Given the description of an element on the screen output the (x, y) to click on. 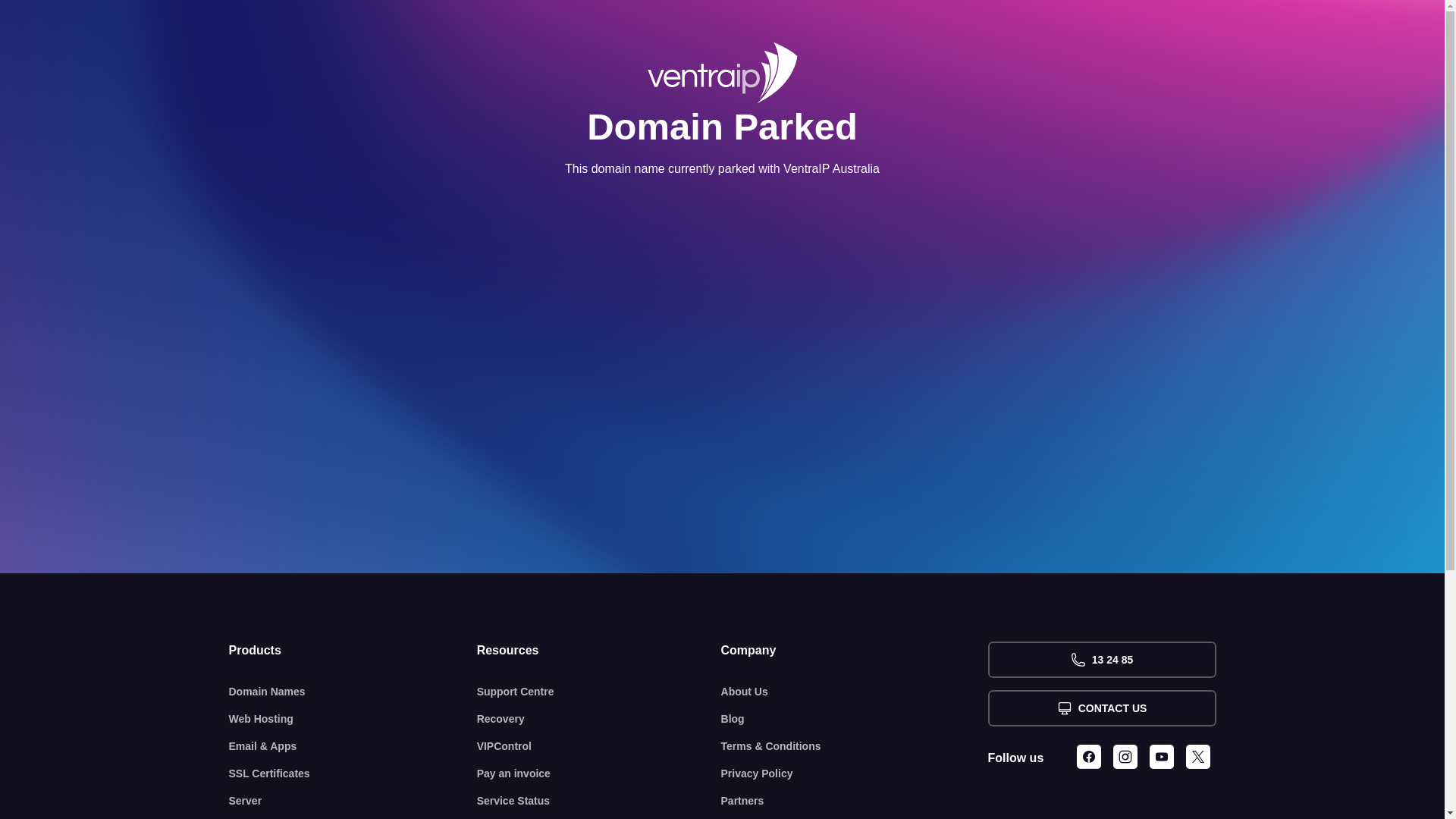
SSL Certificates Element type: text (352, 773)
Server Element type: text (352, 800)
Blog Element type: text (854, 718)
Pay an invoice Element type: text (598, 773)
13 24 85 Element type: text (1101, 659)
Recovery Element type: text (598, 718)
Terms & Conditions Element type: text (854, 745)
CONTACT US Element type: text (1101, 708)
Email & Apps Element type: text (352, 745)
VIPControl Element type: text (598, 745)
Domain Names Element type: text (352, 691)
Service Status Element type: text (598, 800)
Privacy Policy Element type: text (854, 773)
About Us Element type: text (854, 691)
Partners Element type: text (854, 800)
Web Hosting Element type: text (352, 718)
Support Centre Element type: text (598, 691)
